Given the description of an element on the screen output the (x, y) to click on. 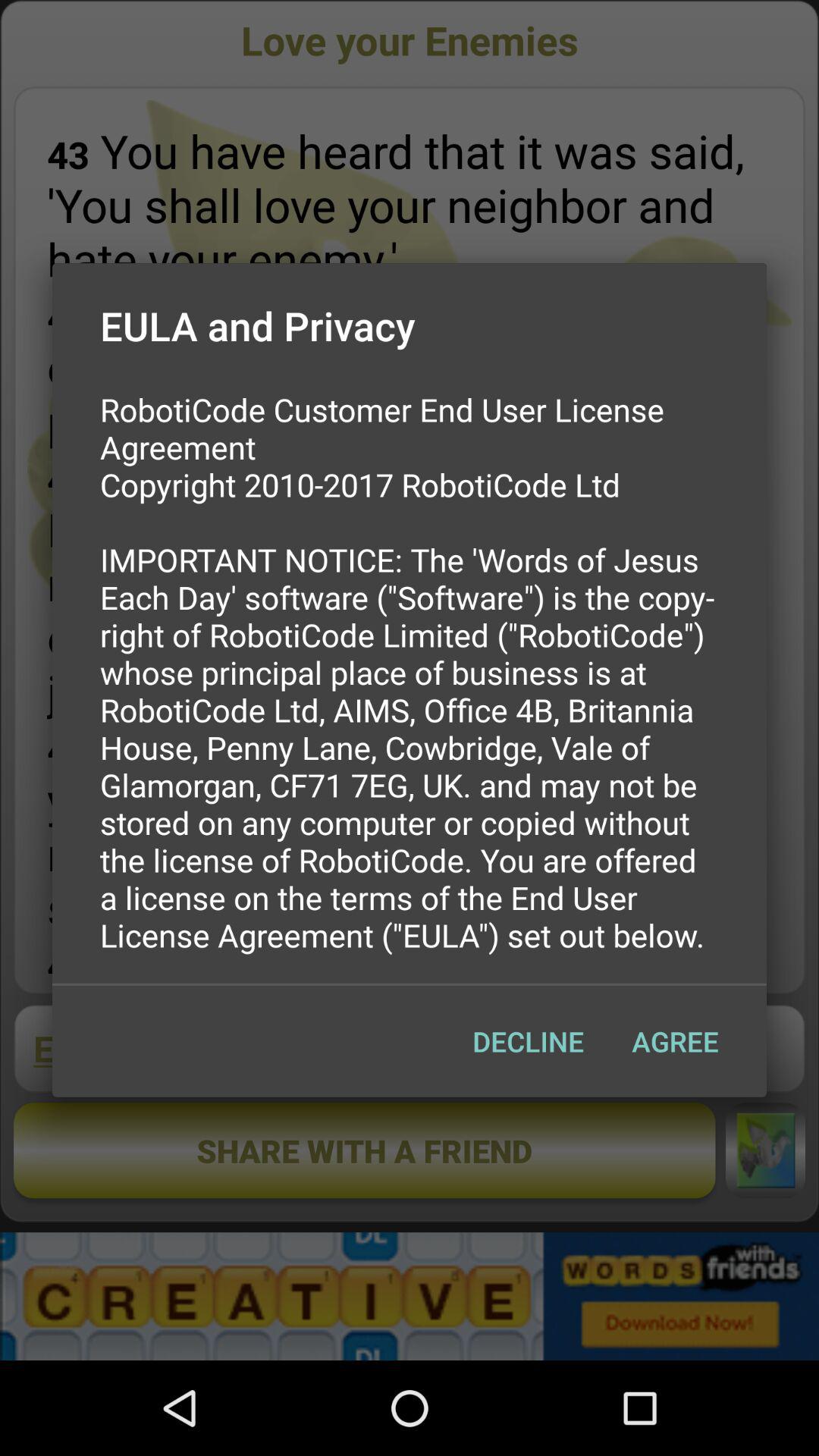
select decline icon (527, 1041)
